Given the description of an element on the screen output the (x, y) to click on. 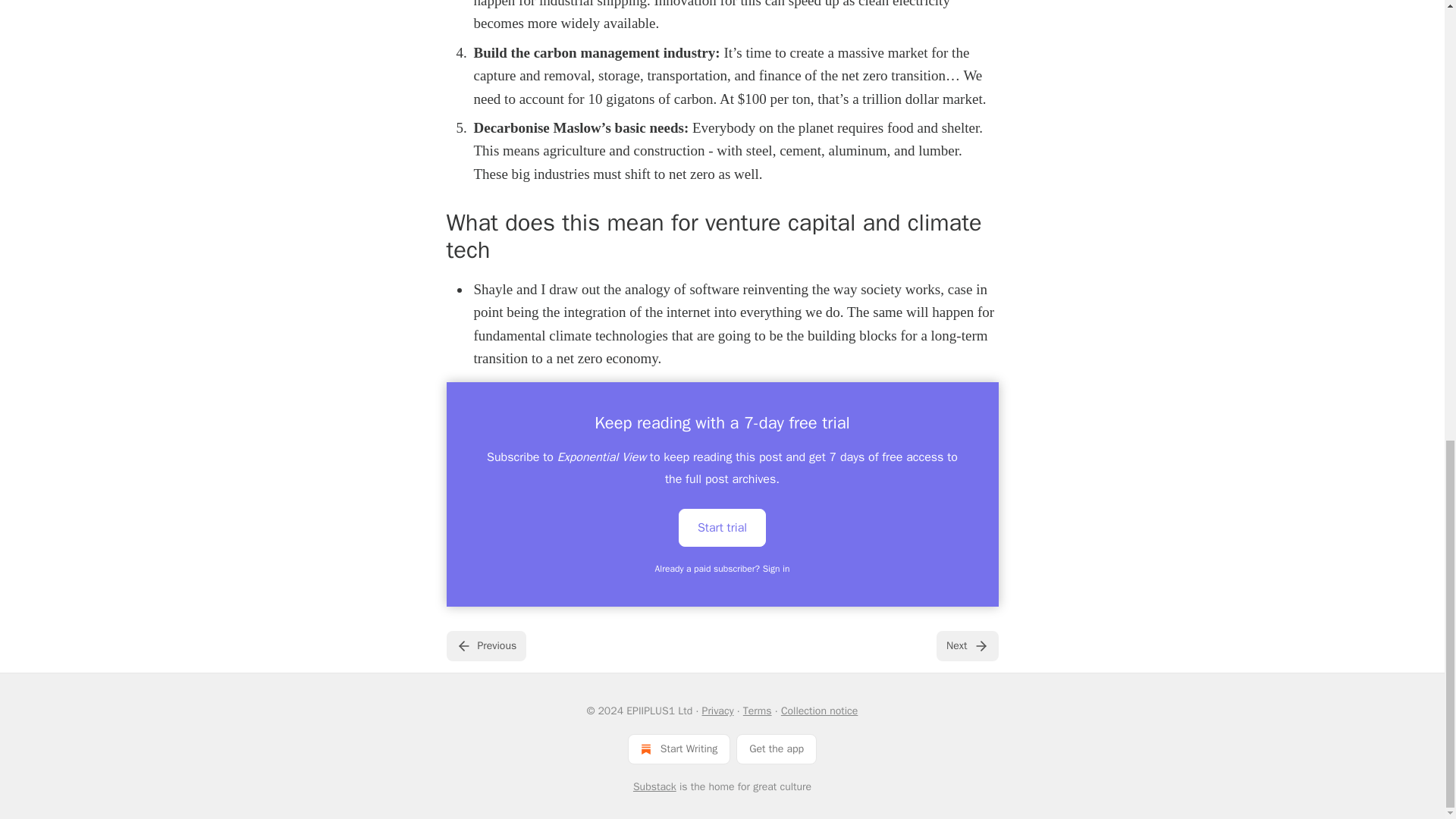
Get the app (776, 748)
Start Writing (678, 748)
Substack (655, 786)
Start trial (721, 527)
Privacy (717, 710)
Terms (756, 710)
Collection notice (818, 710)
Start trial (721, 526)
Previous (485, 645)
Already a paid subscriber? Sign in (722, 568)
